Given the description of an element on the screen output the (x, y) to click on. 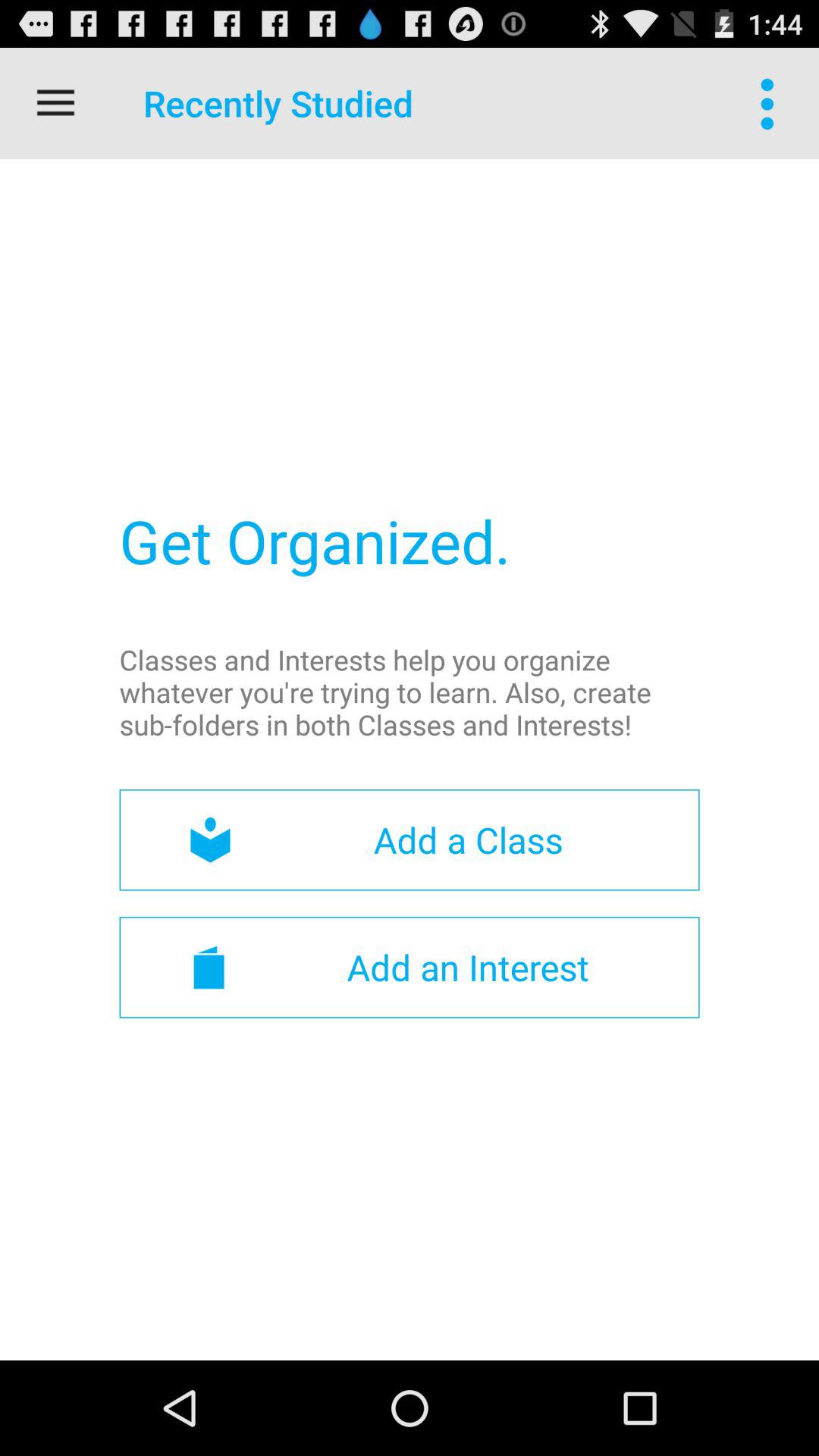
click the add a class (409, 839)
